Given the description of an element on the screen output the (x, y) to click on. 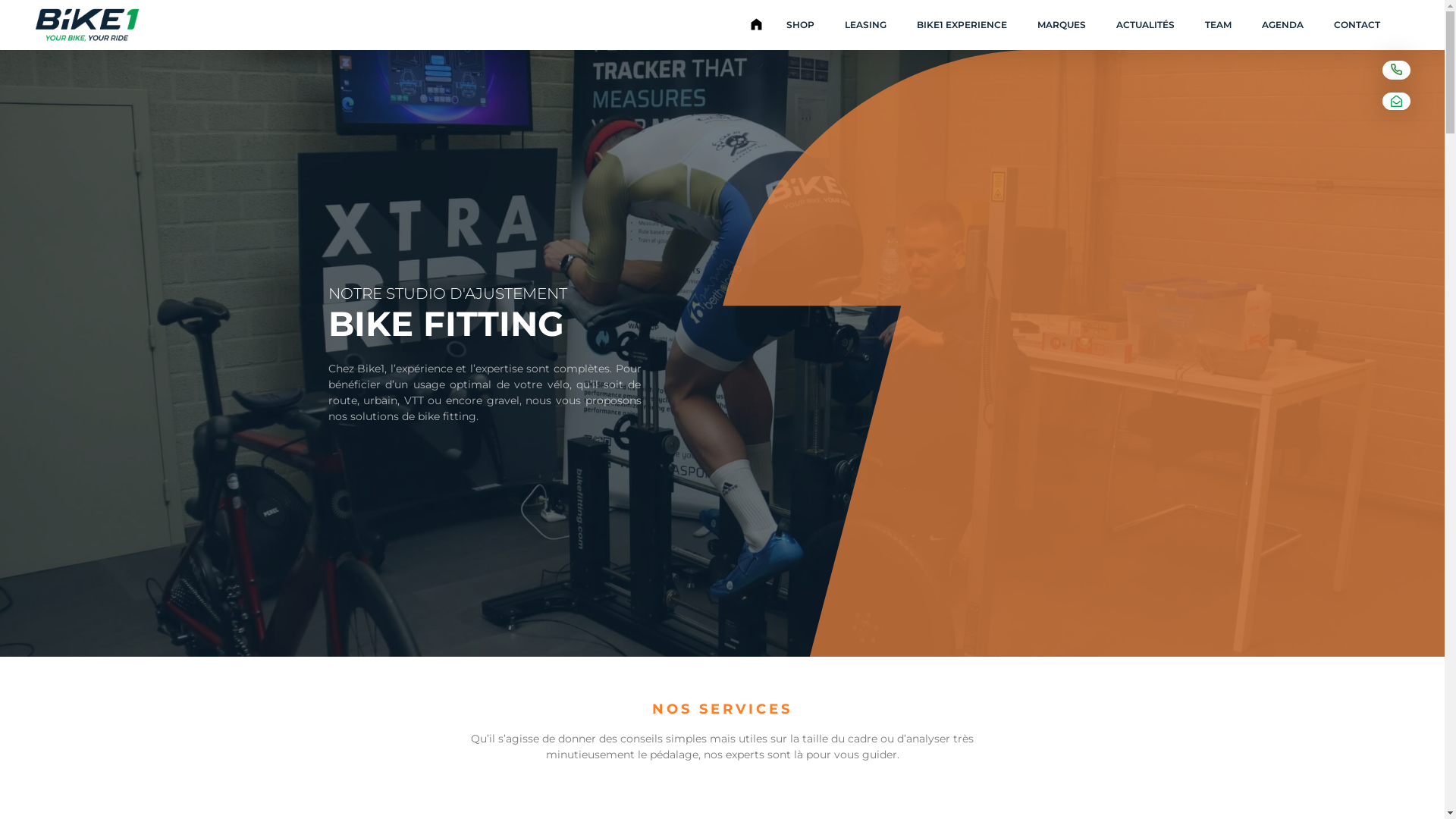
MARQUES Element type: text (1061, 24)
AGENDA Element type: text (1282, 24)
CONTACT Element type: text (1356, 24)
TEAM Element type: text (1217, 24)
BIKE1 EXPERIENCE Element type: text (961, 24)
LEASING Element type: text (865, 24)
SHOP Element type: text (800, 24)
ACCUEIL Element type: text (755, 24)
